Given the description of an element on the screen output the (x, y) to click on. 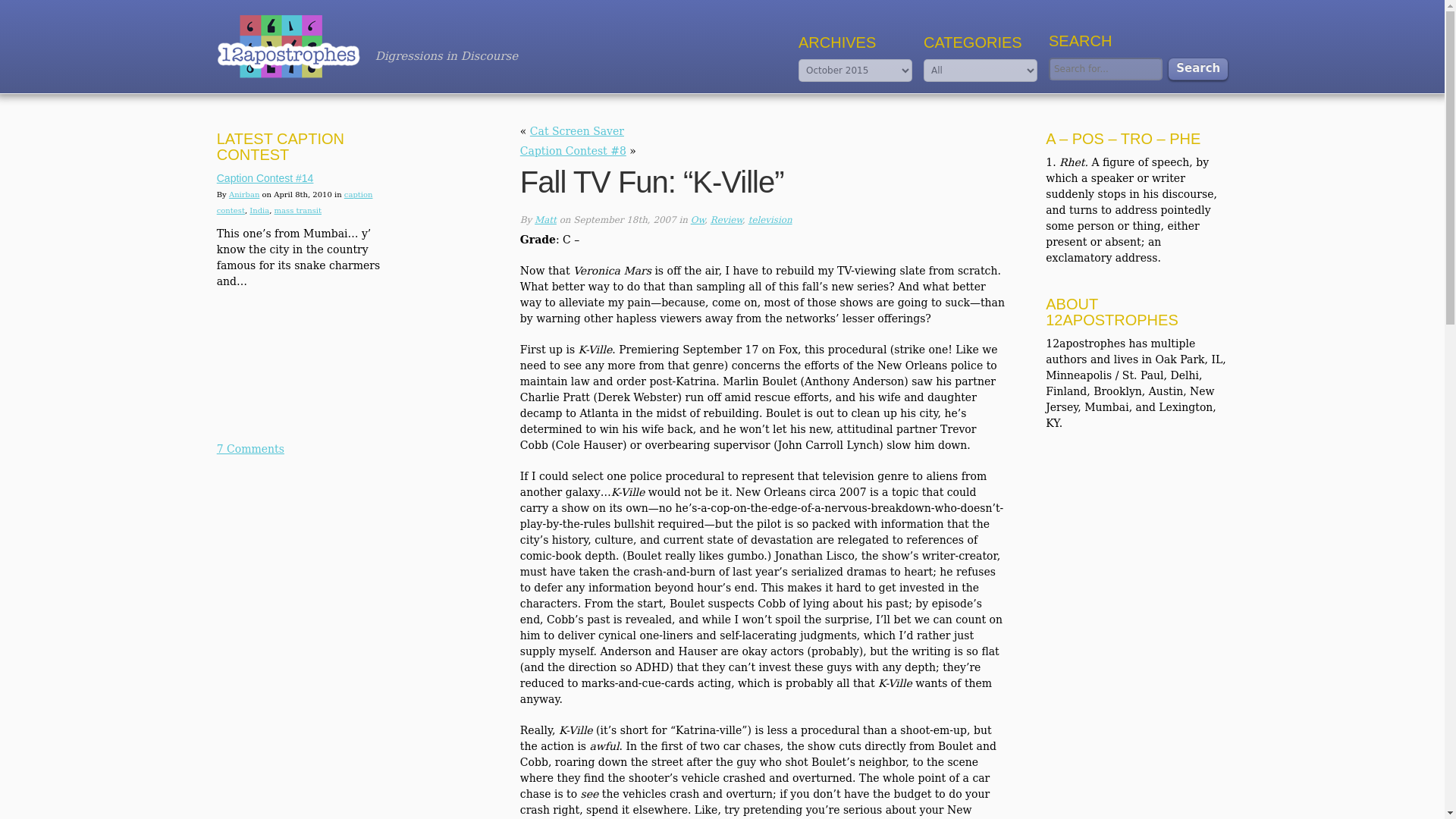
Posts by Matt (545, 219)
Anirban (243, 194)
Search (1198, 69)
Ow (697, 219)
television (770, 219)
12 Apostrophes (287, 46)
mass transit (298, 210)
caption contest (294, 202)
Cat Screen Saver (576, 131)
India (258, 210)
Posts by Anirban (243, 194)
Review (726, 219)
Search (1198, 69)
Matt (545, 219)
Elephant, Mumbai (307, 361)
